Given the description of an element on the screen output the (x, y) to click on. 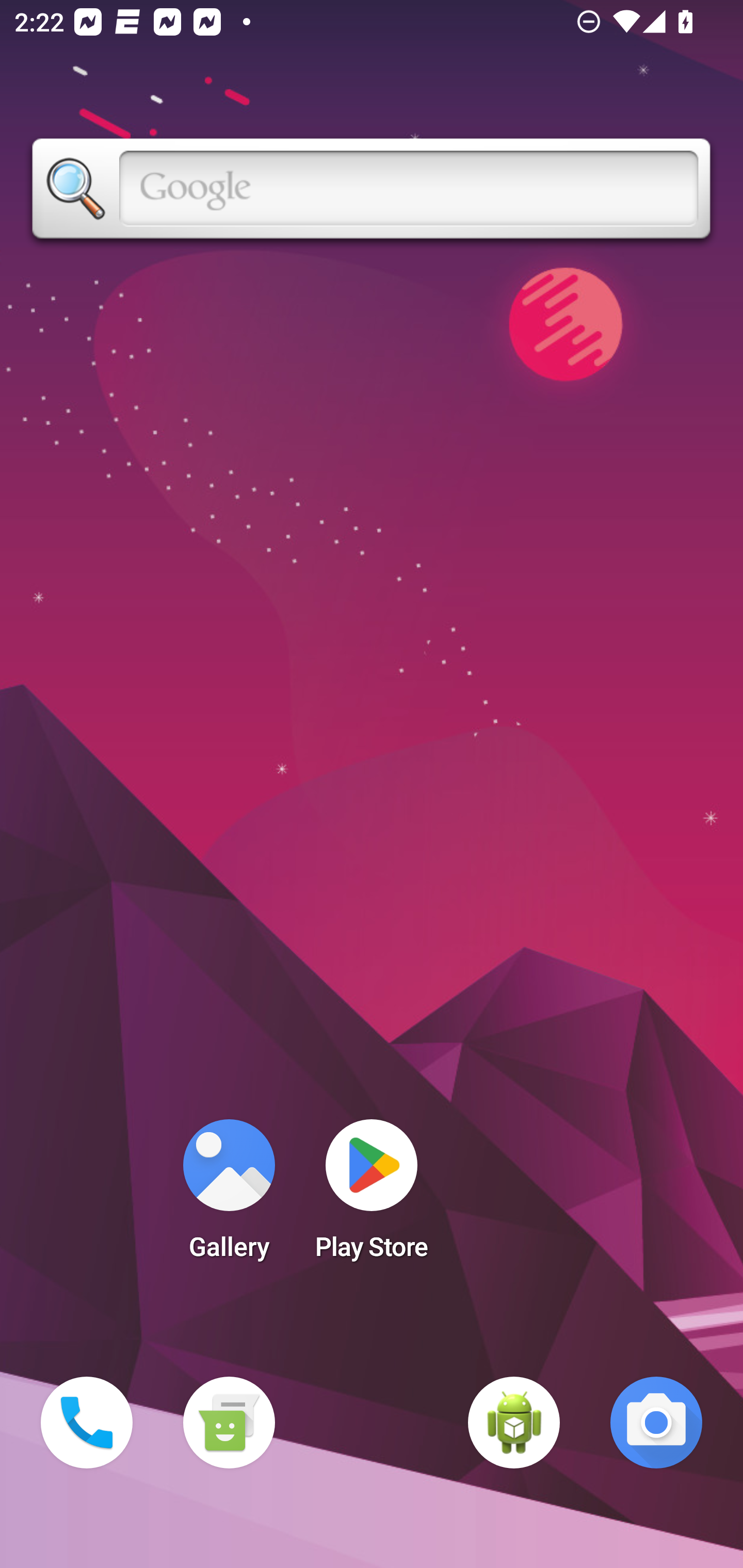
Gallery (228, 1195)
Play Store (371, 1195)
Phone (86, 1422)
Messaging (228, 1422)
WebView Browser Tester (513, 1422)
Camera (656, 1422)
